Given the description of an element on the screen output the (x, y) to click on. 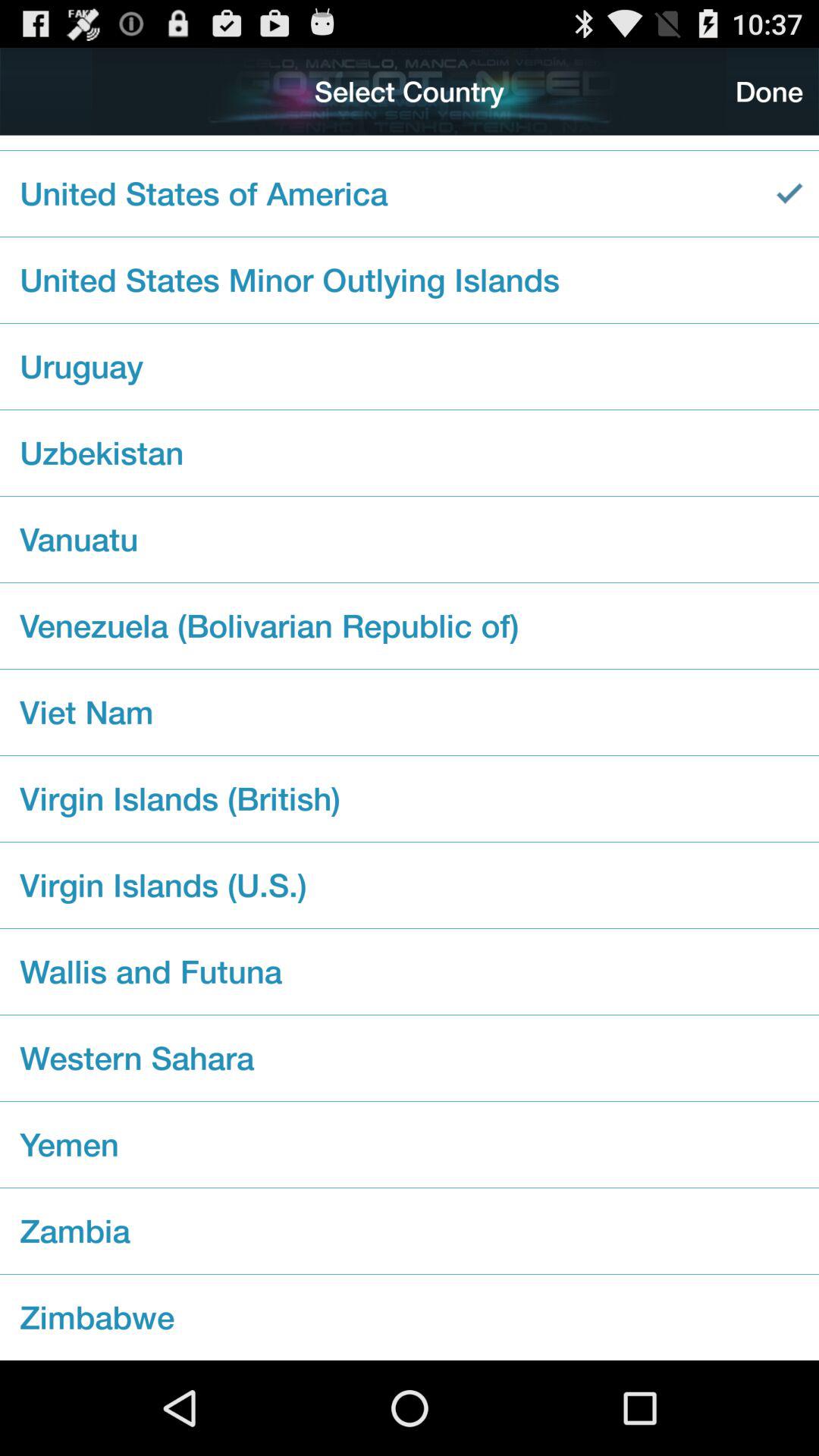
scroll to the venezuela bolivarian republic checkbox (409, 625)
